Given the description of an element on the screen output the (x, y) to click on. 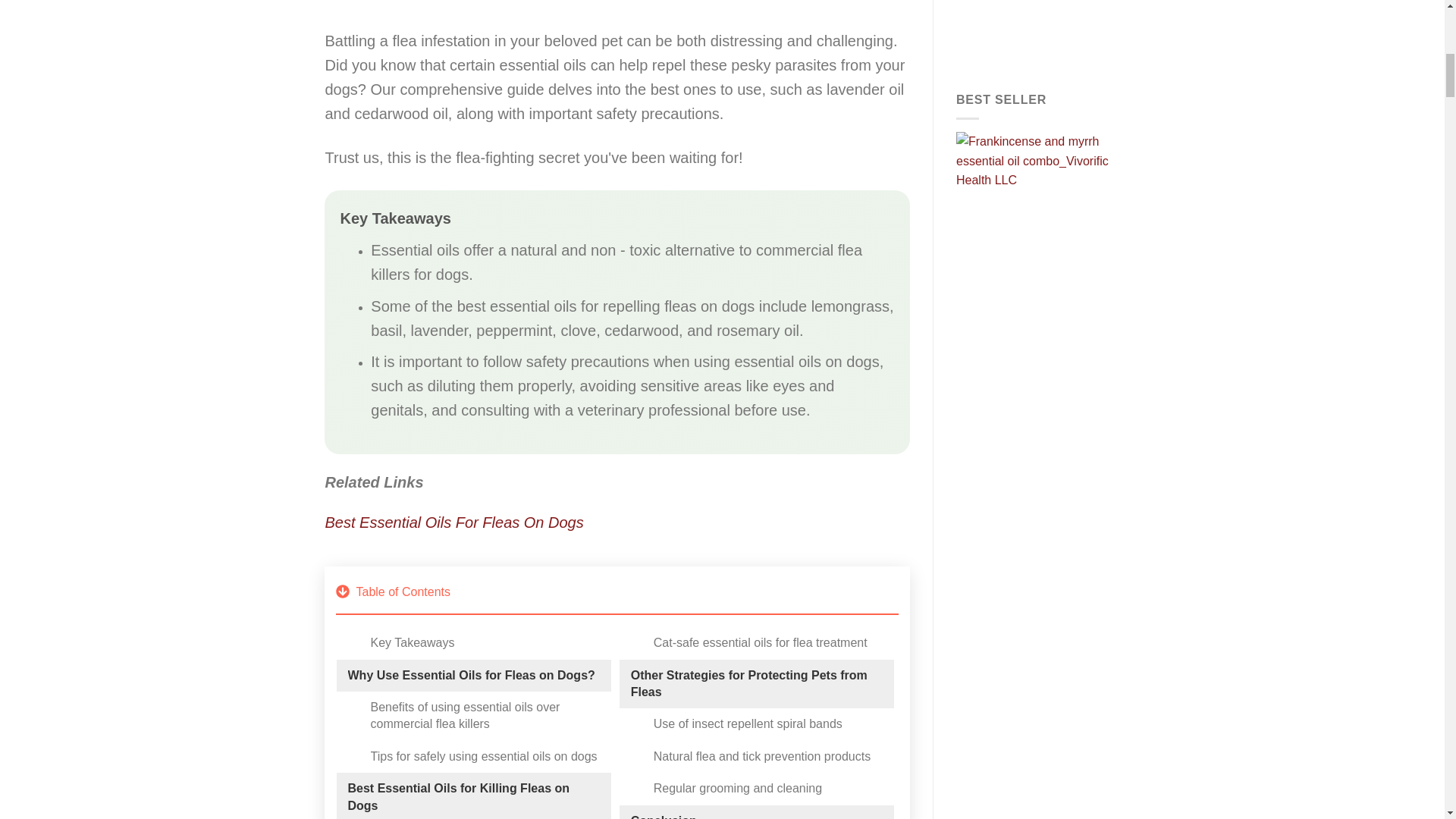
Best Essential Oils For Fleas On Dogs (617, 5)
Use of insect repellent spiral bands (748, 723)
Natural flea and tick prevention products (761, 756)
Conclusion (663, 816)
Best Essential Oils for Killing Fleas on Dogs (472, 797)
Key Takeaways (411, 642)
Why Use Essential Oils for Fleas on Dogs? (470, 675)
Other Strategies for Protecting Pets from Fleas (756, 684)
